Given the description of an element on the screen output the (x, y) to click on. 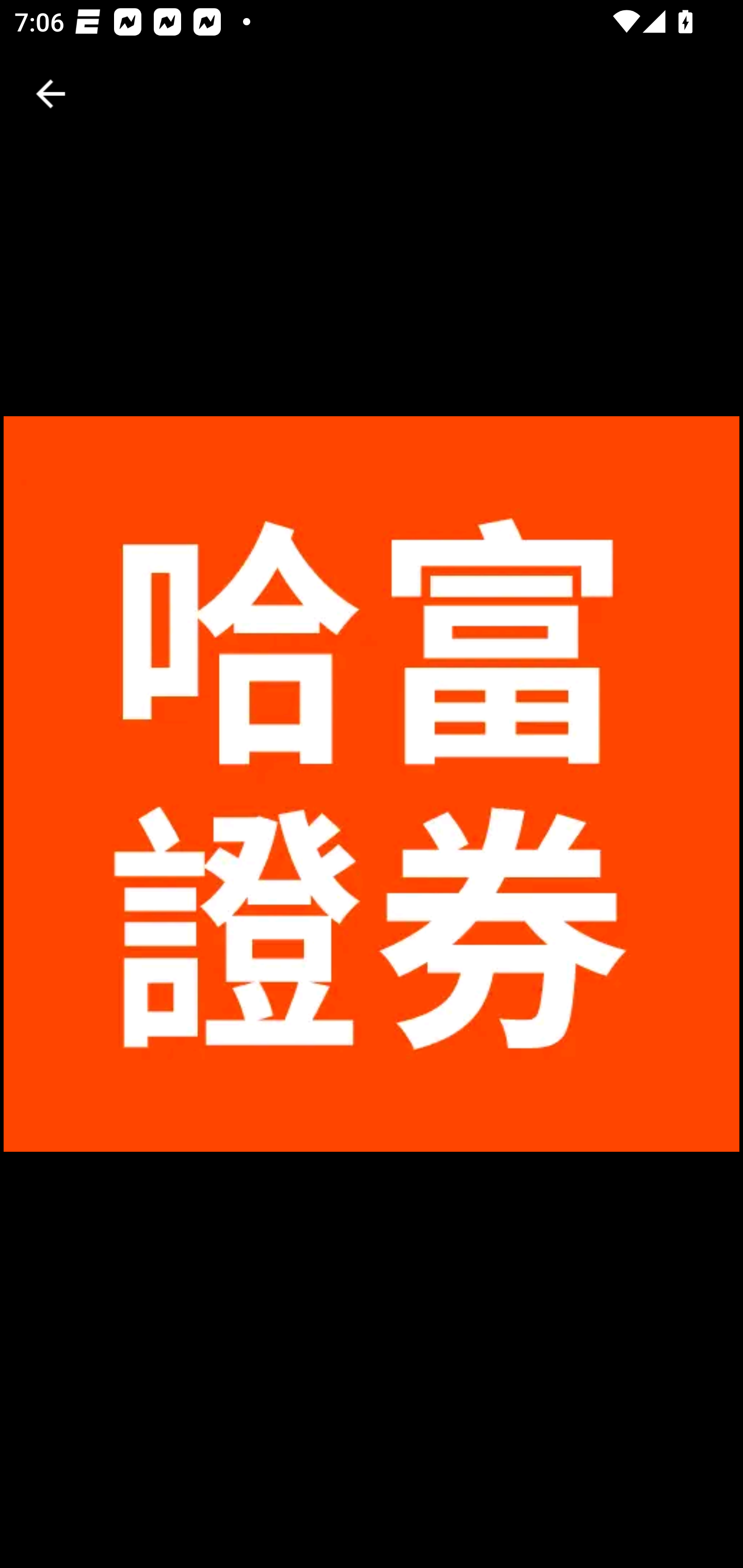
Back (50, 93)
